Given the description of an element on the screen output the (x, y) to click on. 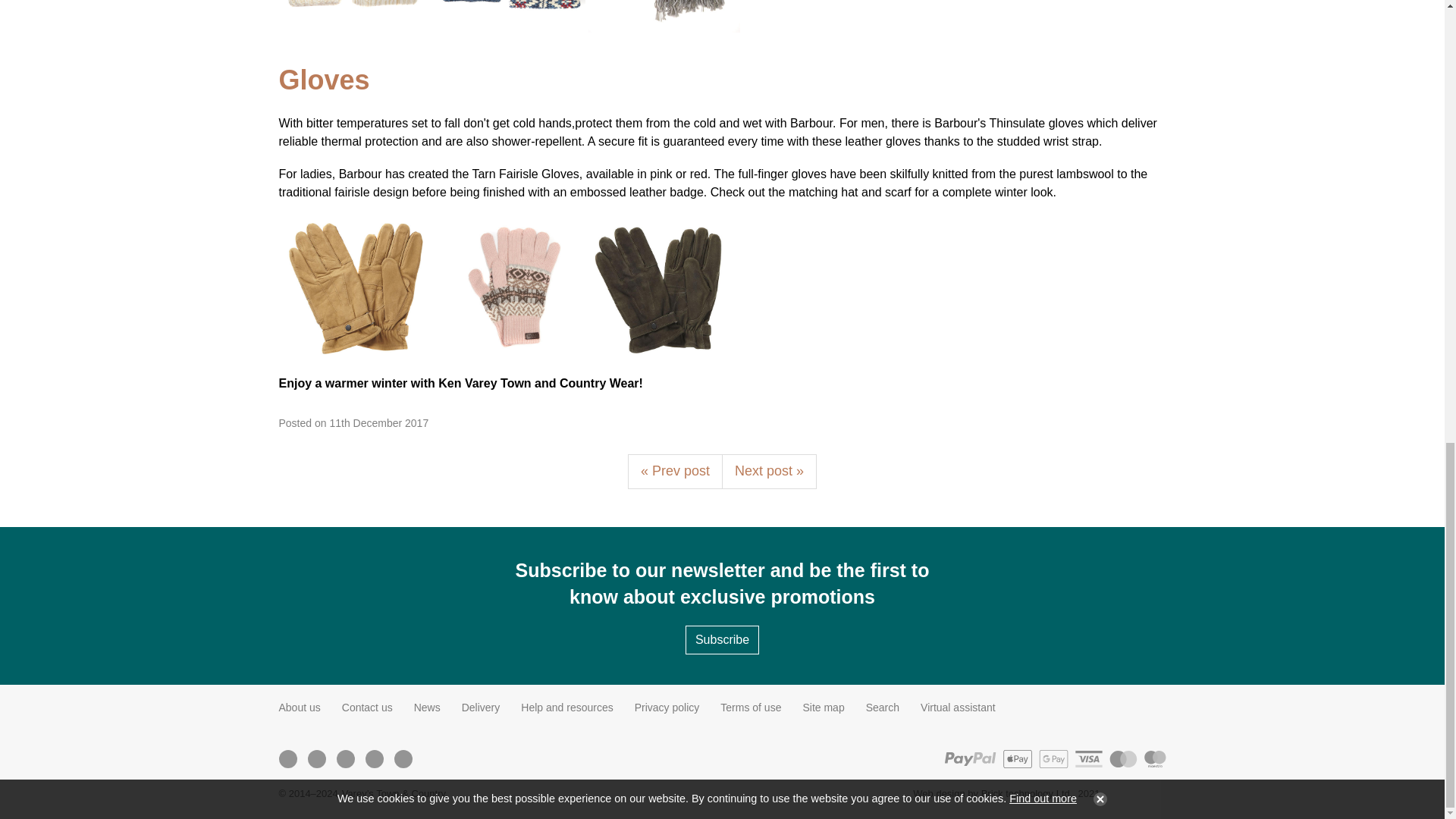
Facebook (287, 758)
Website designed and maintained by Brick technology Ltd. (1139, 793)
LinkedIn (373, 758)
Instagram (344, 758)
Newsletter (402, 758)
Twitter (315, 758)
